Given the description of an element on the screen output the (x, y) to click on. 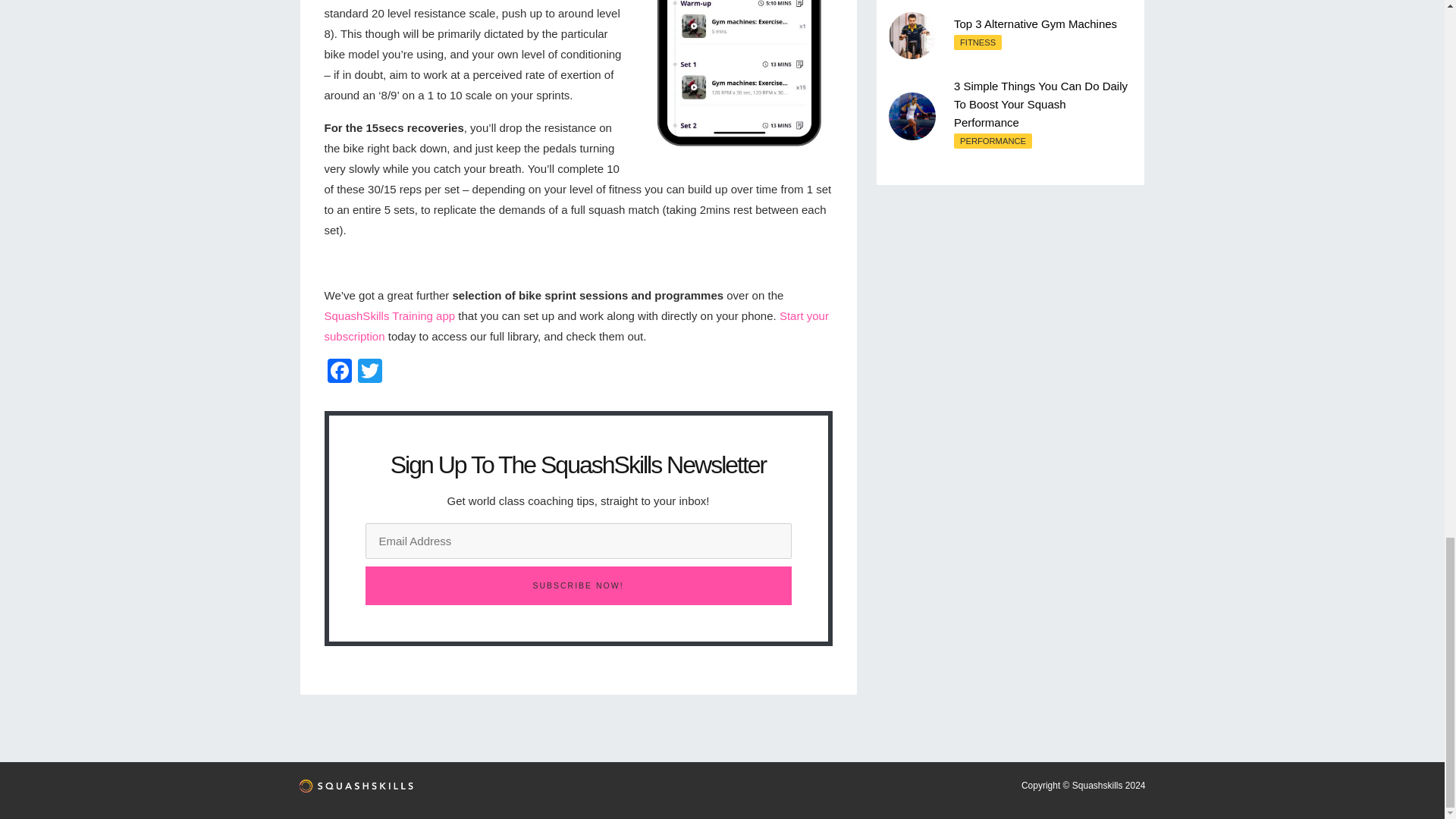
Subscribe Now! (578, 585)
Subscribe Now! (578, 585)
SquashSkills Training app (389, 315)
Facebook (339, 372)
Twitter (370, 372)
Facebook (339, 372)
SquashSkills Blog (355, 785)
SquashSkills Blog (355, 789)
Start your subscription (576, 326)
Twitter (370, 372)
